Given the description of an element on the screen output the (x, y) to click on. 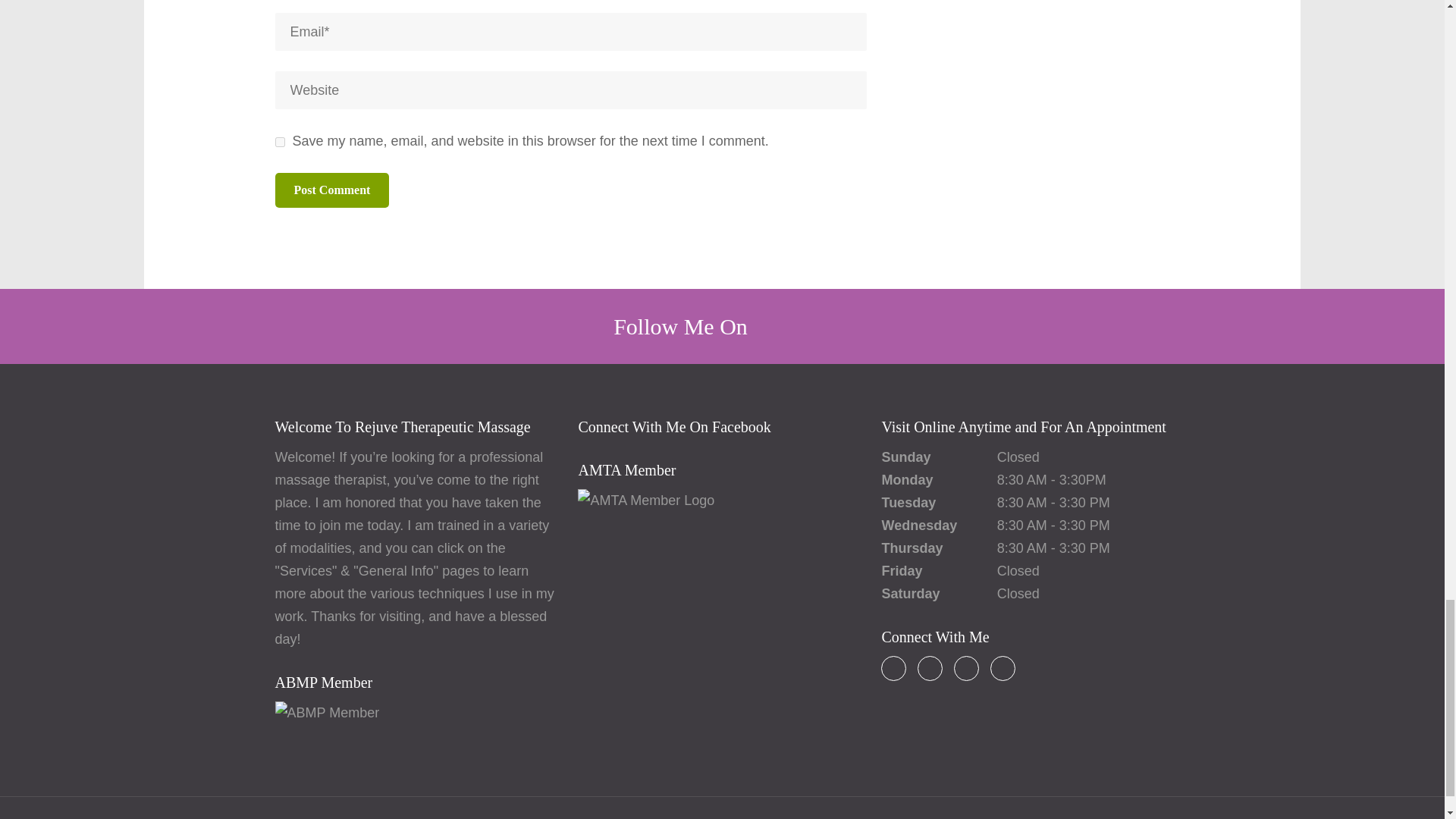
yes (279, 142)
Post Comment (331, 190)
Facebook (892, 668)
